Given the description of an element on the screen output the (x, y) to click on. 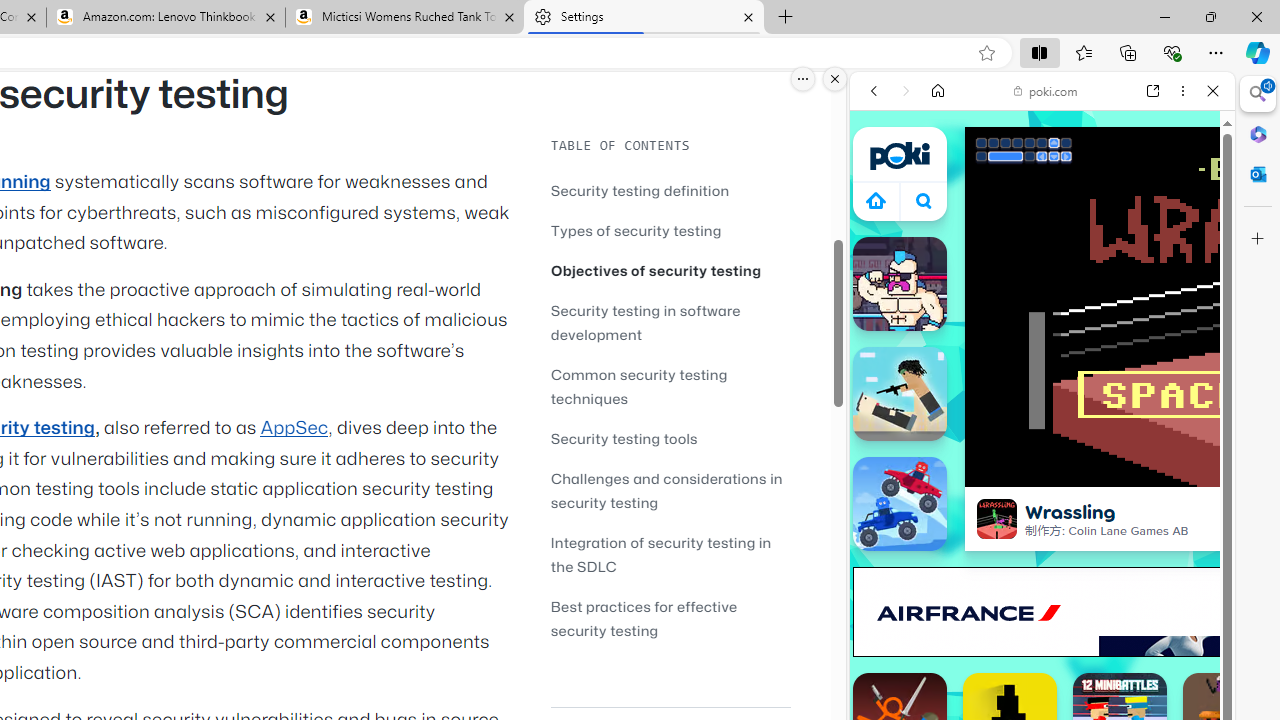
Common security testing techniques (670, 386)
Shooting Games (1042, 518)
Challenges and considerations in security testing (666, 490)
Two Player Games (1042, 568)
Challenges and considerations in security testing (670, 489)
Security testing in software development (645, 321)
Shooting Games (1042, 519)
Common security testing techniques (639, 385)
